Given the description of an element on the screen output the (x, y) to click on. 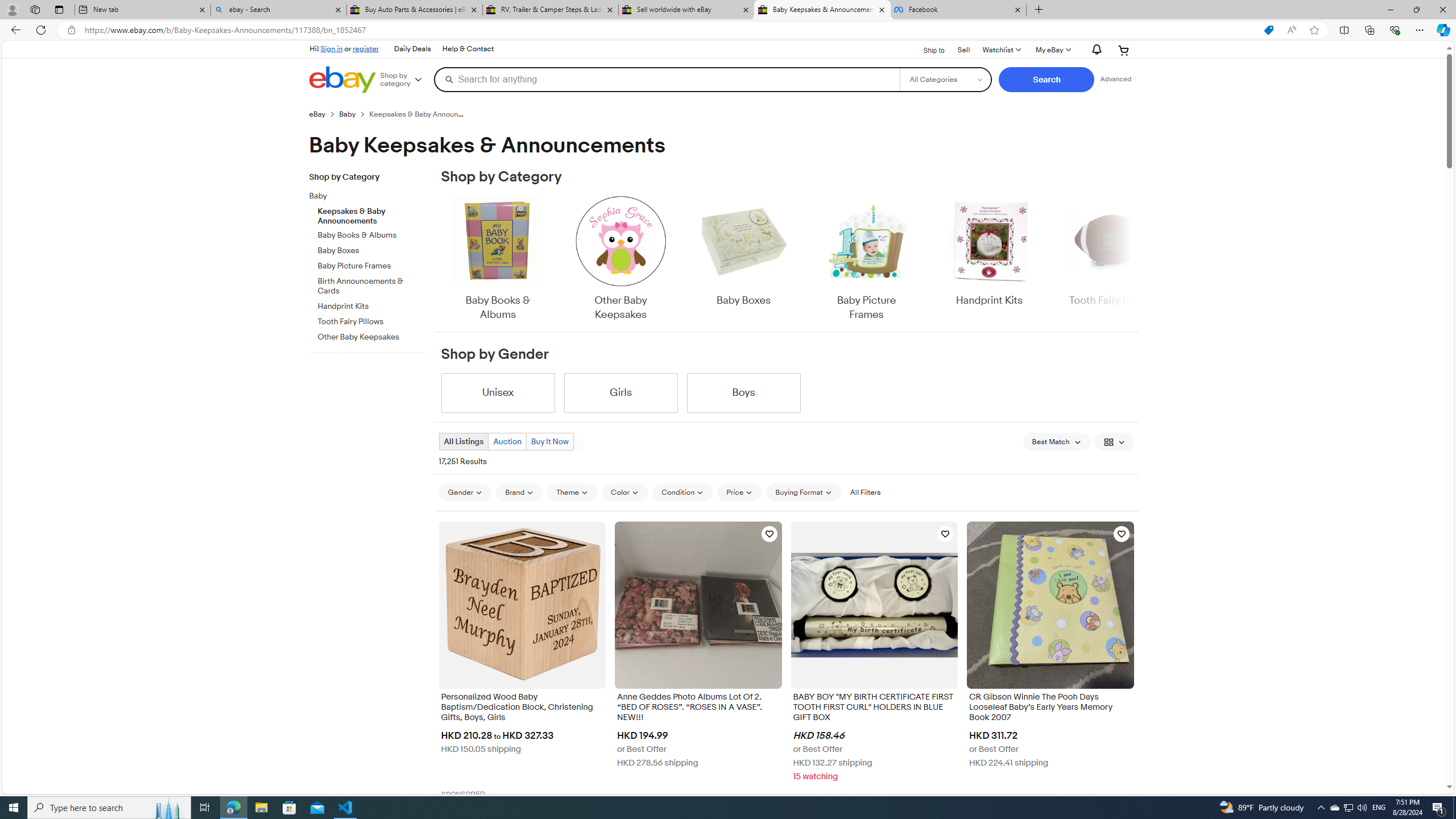
Sell (963, 49)
All Listings Current view (464, 441)
Baby Picture Frames (866, 258)
Boys (742, 392)
Buying Format (803, 492)
Unisex (497, 392)
Price (739, 492)
Ship to (926, 50)
Sell (963, 49)
Select a category for search (945, 78)
Baby Boxes (742, 251)
